Given the description of an element on the screen output the (x, y) to click on. 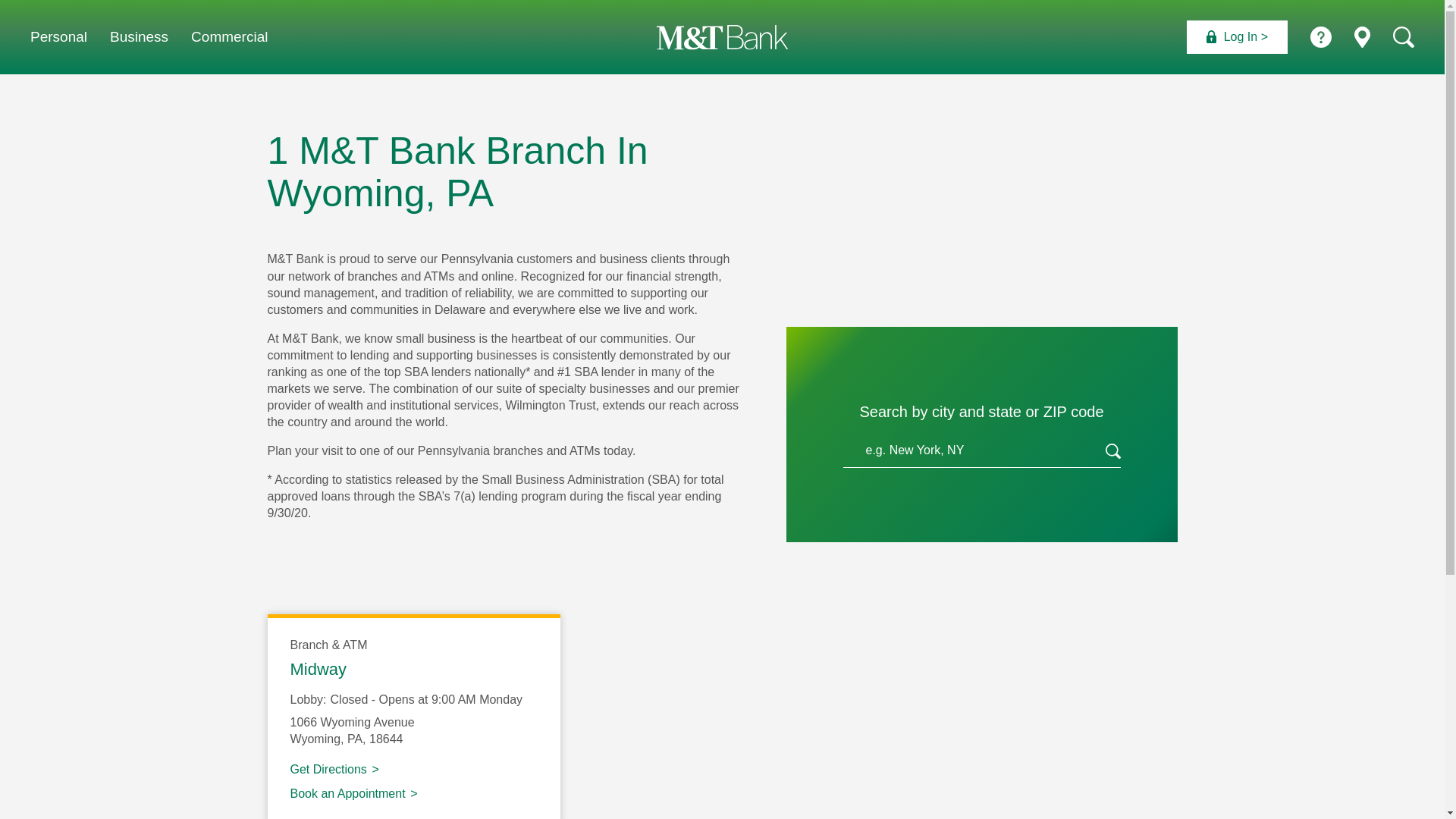
Link to main website (722, 36)
Business (139, 36)
Pennsylvania (354, 738)
Commercial (228, 36)
Personal (58, 36)
Log In (1236, 37)
Midway (317, 669)
Book an Appointment (352, 793)
Submit a search. (1113, 453)
